Given the description of an element on the screen output the (x, y) to click on. 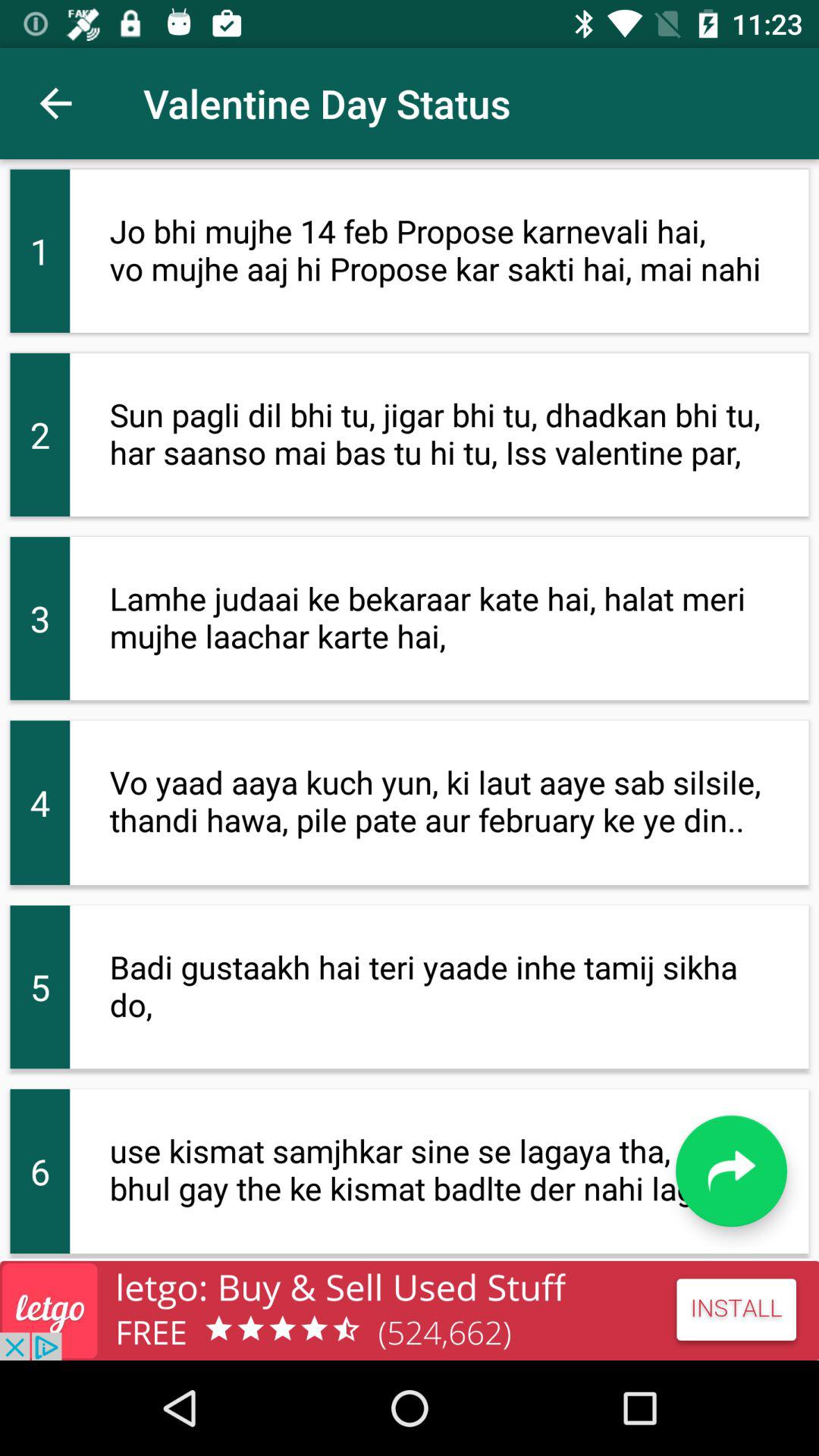
advertisement page (409, 1310)
